Given the description of an element on the screen output the (x, y) to click on. 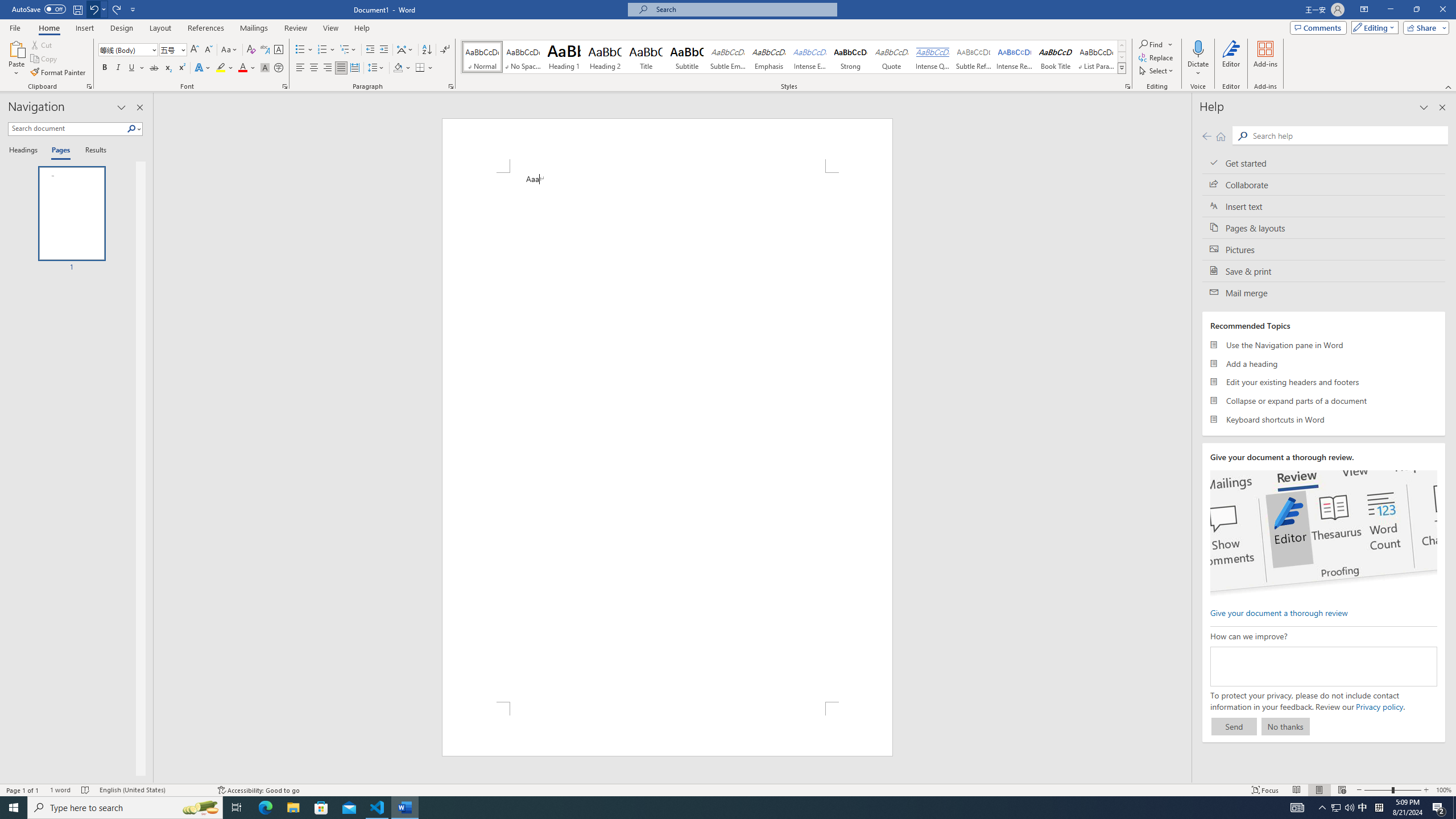
Design (122, 28)
Headings (25, 150)
Shading (402, 67)
Asian Layout (405, 49)
Pictures (1323, 249)
Mailings (253, 28)
Text Highlight Color (224, 67)
Format Painter (58, 72)
Increase Indent (383, 49)
Edit your existing headers and footers (1323, 381)
Page 1 content (667, 436)
AutomationID: QuickStylesGallery (794, 56)
Dictate (1197, 58)
Zoom Out (1377, 790)
Font (128, 49)
